Given the description of an element on the screen output the (x, y) to click on. 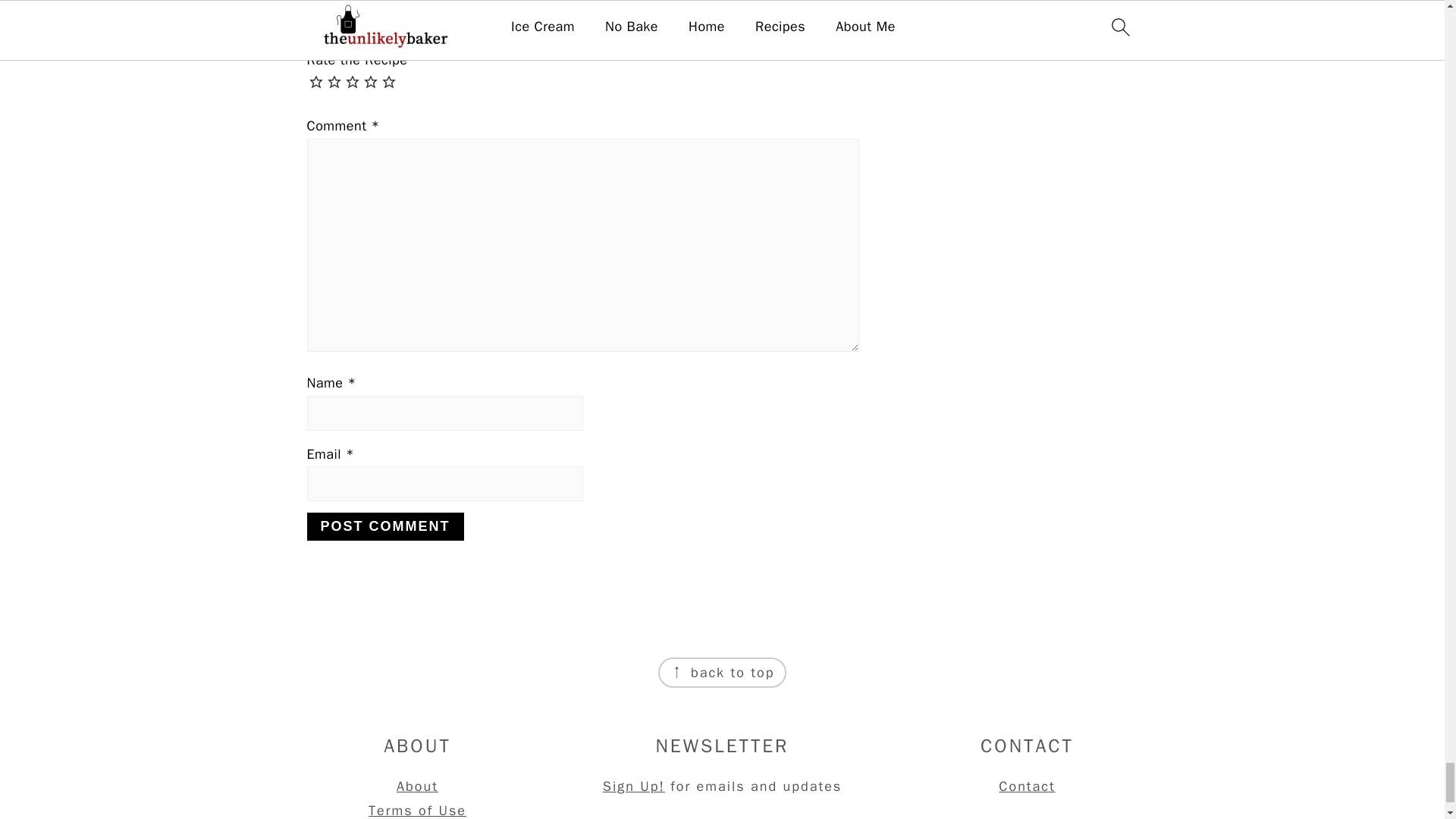
Post Comment (384, 526)
